Given the description of an element on the screen output the (x, y) to click on. 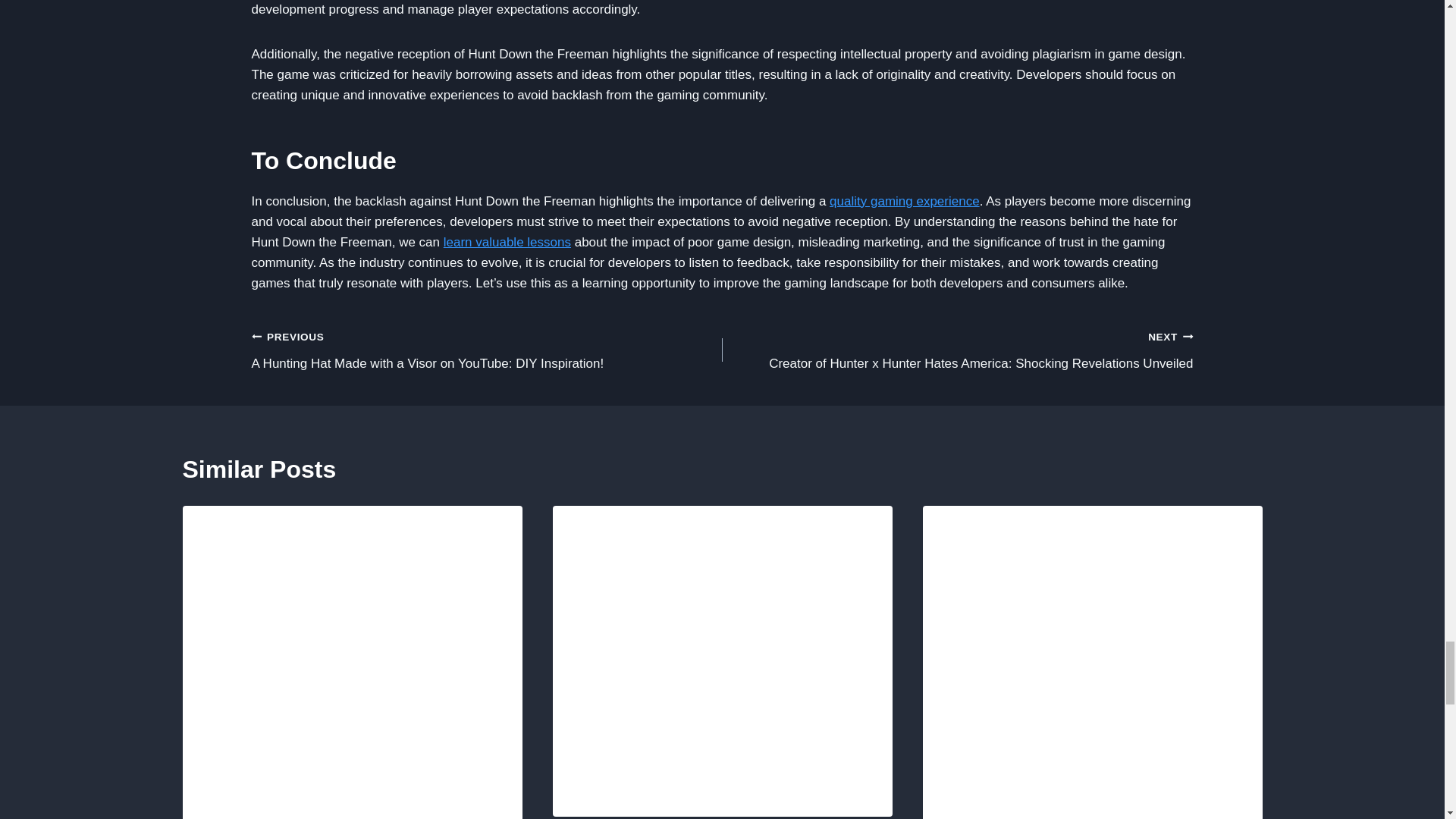
learn valuable lessons (507, 242)
quality gaming experience (904, 201)
